Given the description of an element on the screen output the (x, y) to click on. 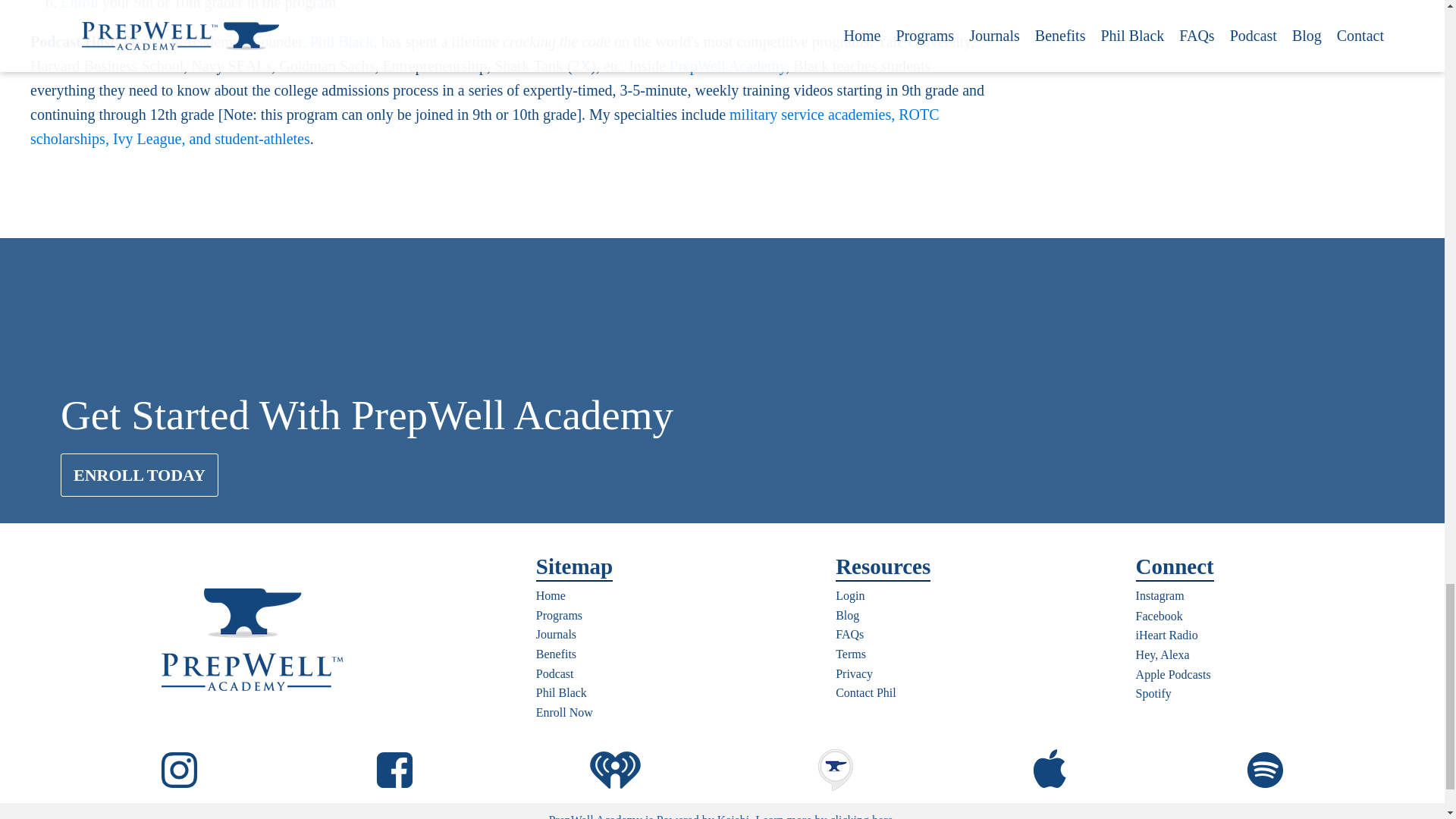
Phil Black (342, 41)
Enroll (80, 5)
PrepWell Academy (727, 65)
